Given the description of an element on the screen output the (x, y) to click on. 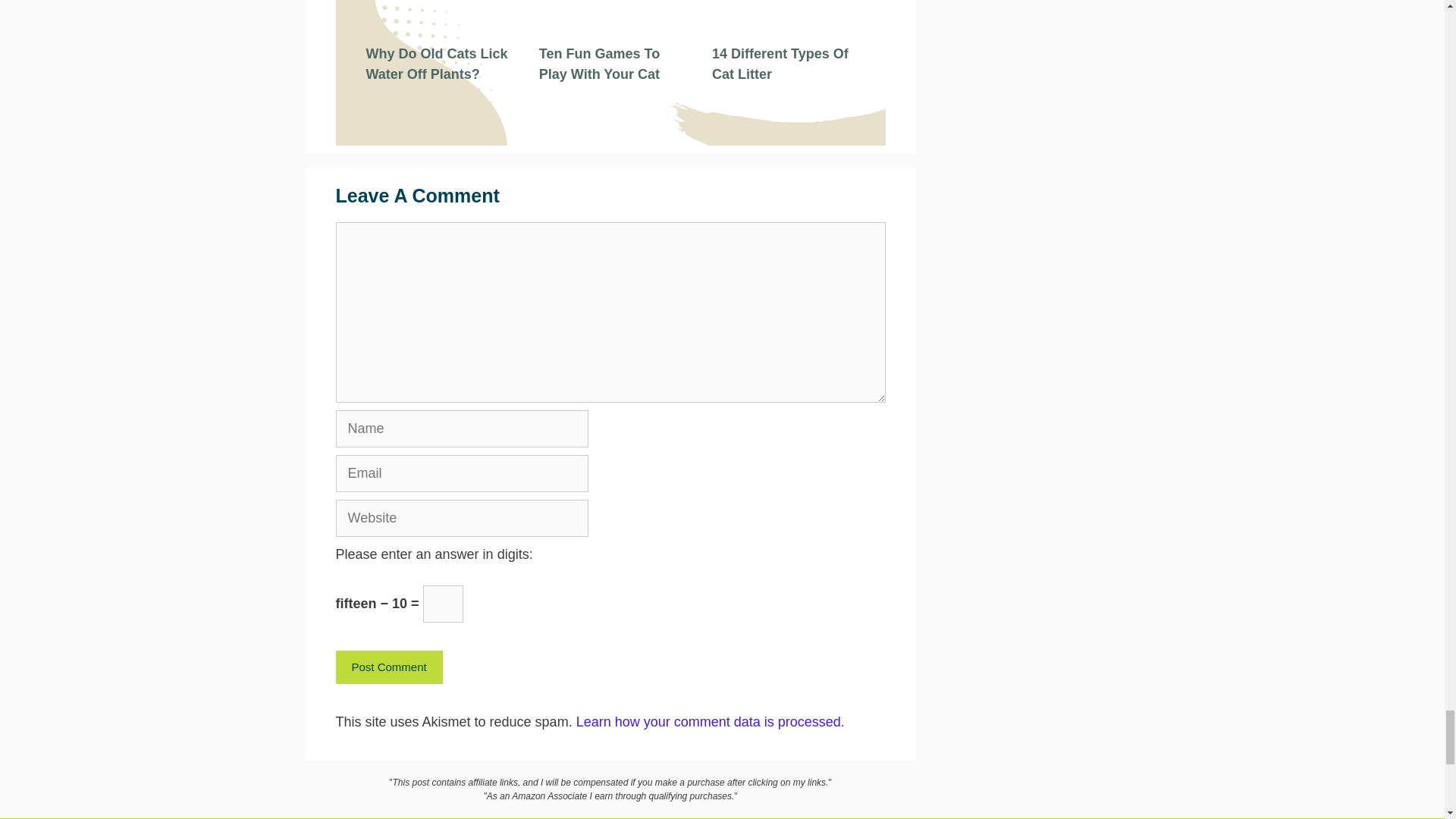
Post Comment (388, 667)
